Given the description of an element on the screen output the (x, y) to click on. 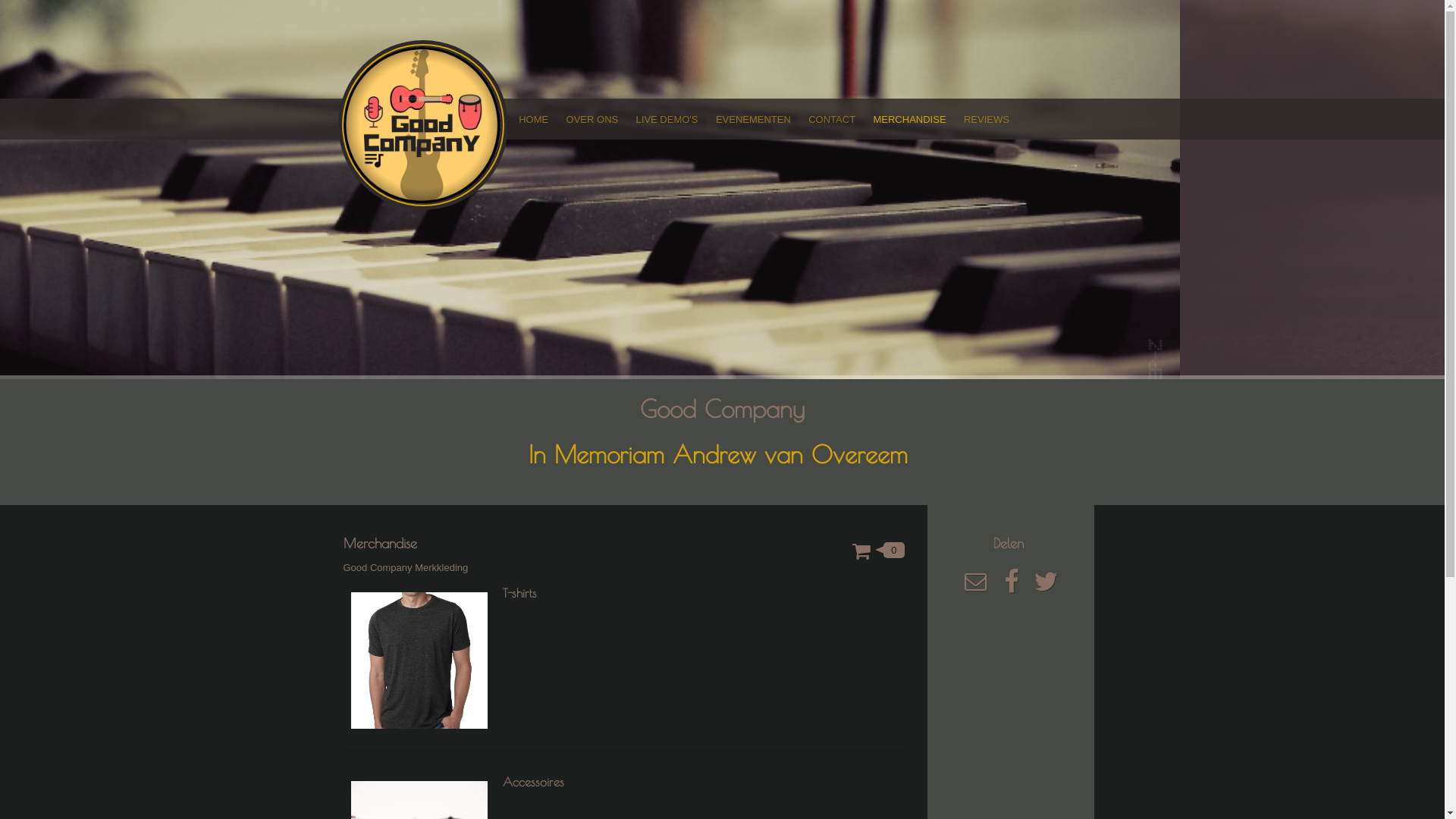
MERCHANDISE Element type: text (909, 118)
EVENEMENTEN Element type: text (752, 118)
OVER ONS Element type: text (592, 118)
CONTACT Element type: text (832, 118)
LIVE DEMO'S Element type: text (666, 118)
Twitter Element type: hover (1045, 587)
  Element type: text (422, 124)
Facebook Element type: hover (1011, 587)
0 Element type: text (877, 549)
REVIEWS Element type: text (985, 118)
HOME Element type: text (532, 118)
E-mail Element type: hover (975, 587)
